Given the description of an element on the screen output the (x, y) to click on. 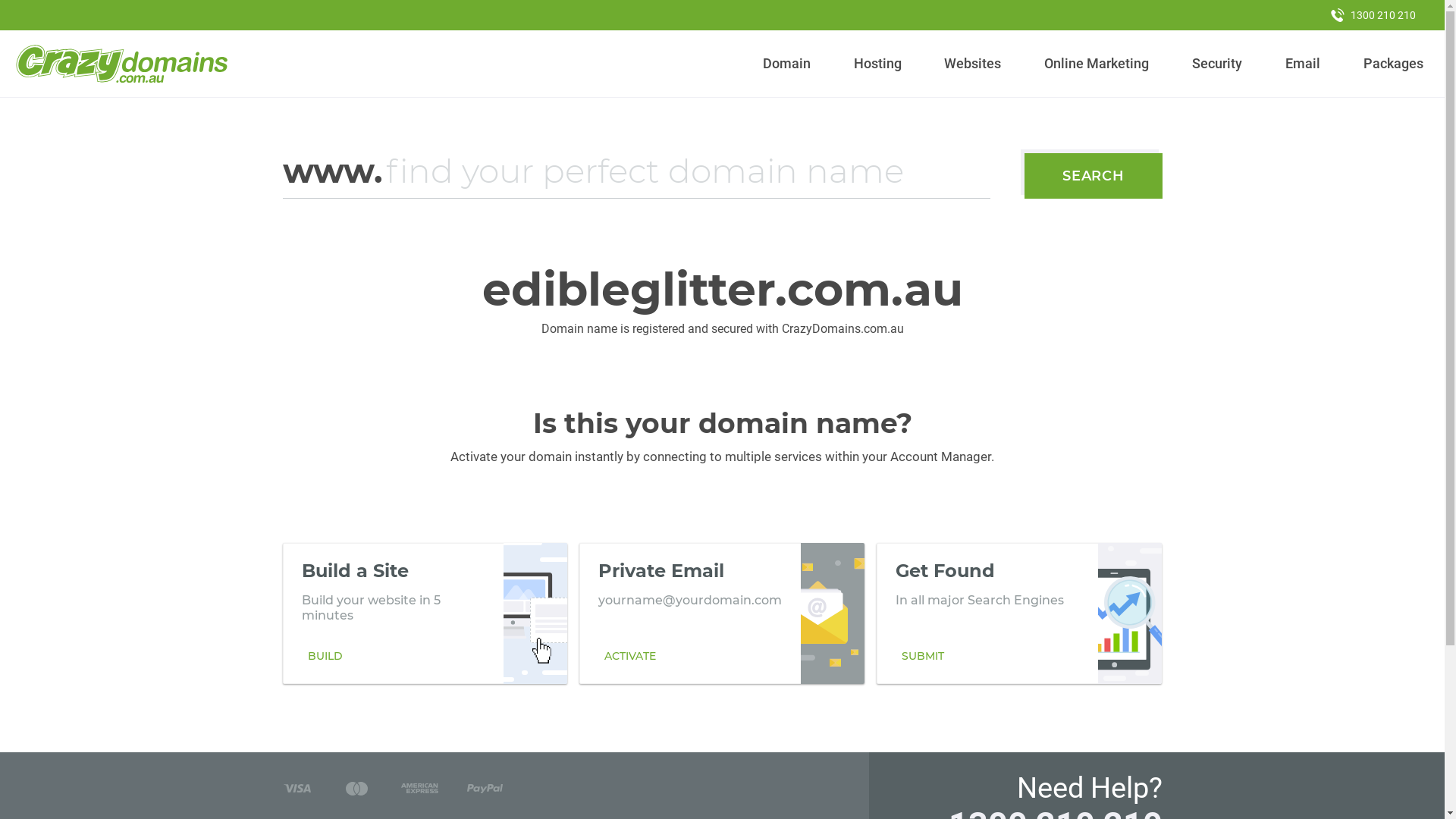
Hosting Element type: text (877, 63)
Security Element type: text (1217, 63)
Domain Element type: text (786, 63)
Get Found
In all major Search Engines
SUBMIT Element type: text (1018, 613)
1300 210 210 Element type: text (1373, 15)
Private Email
yourname@yourdomain.com
ACTIVATE Element type: text (721, 613)
Build a Site
Build your website in 5 minutes
BUILD Element type: text (424, 613)
Websites Element type: text (972, 63)
Online Marketing Element type: text (1096, 63)
Packages Element type: text (1392, 63)
SEARCH Element type: text (1092, 175)
Email Element type: text (1302, 63)
